Given the description of an element on the screen output the (x, y) to click on. 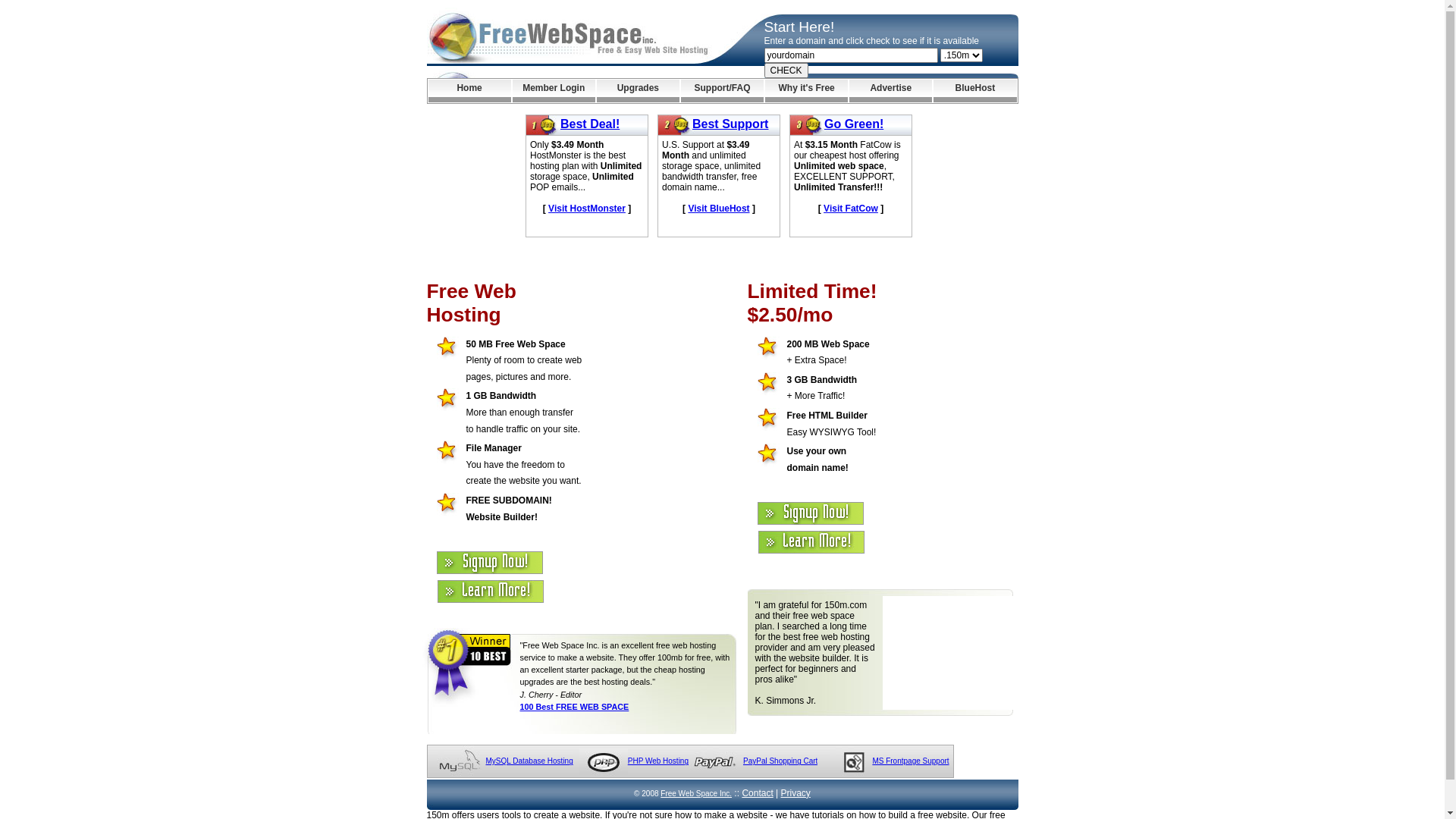
Free Web Space Inc. Element type: text (695, 793)
Support/FAQ Element type: text (721, 90)
Home Element type: text (468, 90)
PayPal Shopping Cart Element type: text (780, 760)
PHP Web Hosting Element type: text (657, 760)
MySQL Database Hosting Element type: text (528, 760)
CHECK Element type: text (786, 70)
Contact Element type: text (756, 792)
Why it's Free Element type: text (806, 90)
100 Best FREE WEB SPACE Element type: text (574, 706)
MS Frontpage Support Element type: text (910, 760)
Advertise Element type: text (890, 90)
BlueHost Element type: text (974, 90)
Upgrades Element type: text (637, 90)
Member Login Element type: text (553, 90)
Privacy Element type: text (795, 792)
